Given the description of an element on the screen output the (x, y) to click on. 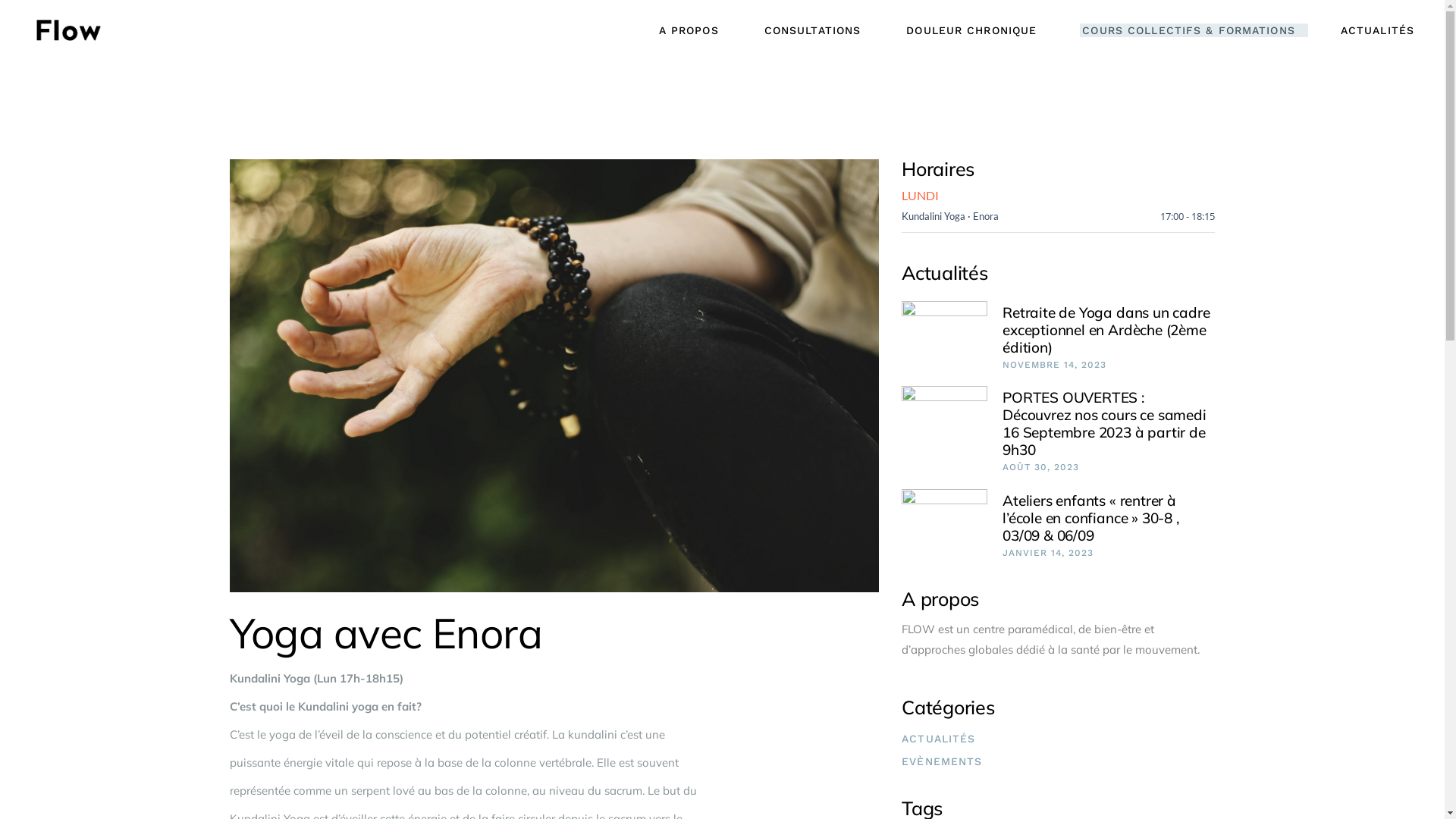
DOULEUR CHRONIQUE Element type: text (971, 30)
CONSULTATIONS Element type: text (812, 30)
A PROPOS Element type: text (688, 30)
JANVIER 14, 2023 Element type: text (1047, 552)
Enora Element type: text (985, 216)
COURS COLLECTIFS & FORMATIONS Element type: text (1188, 30)
NOVEMBRE 14, 2023 Element type: text (1053, 364)
